Given the description of an element on the screen output the (x, y) to click on. 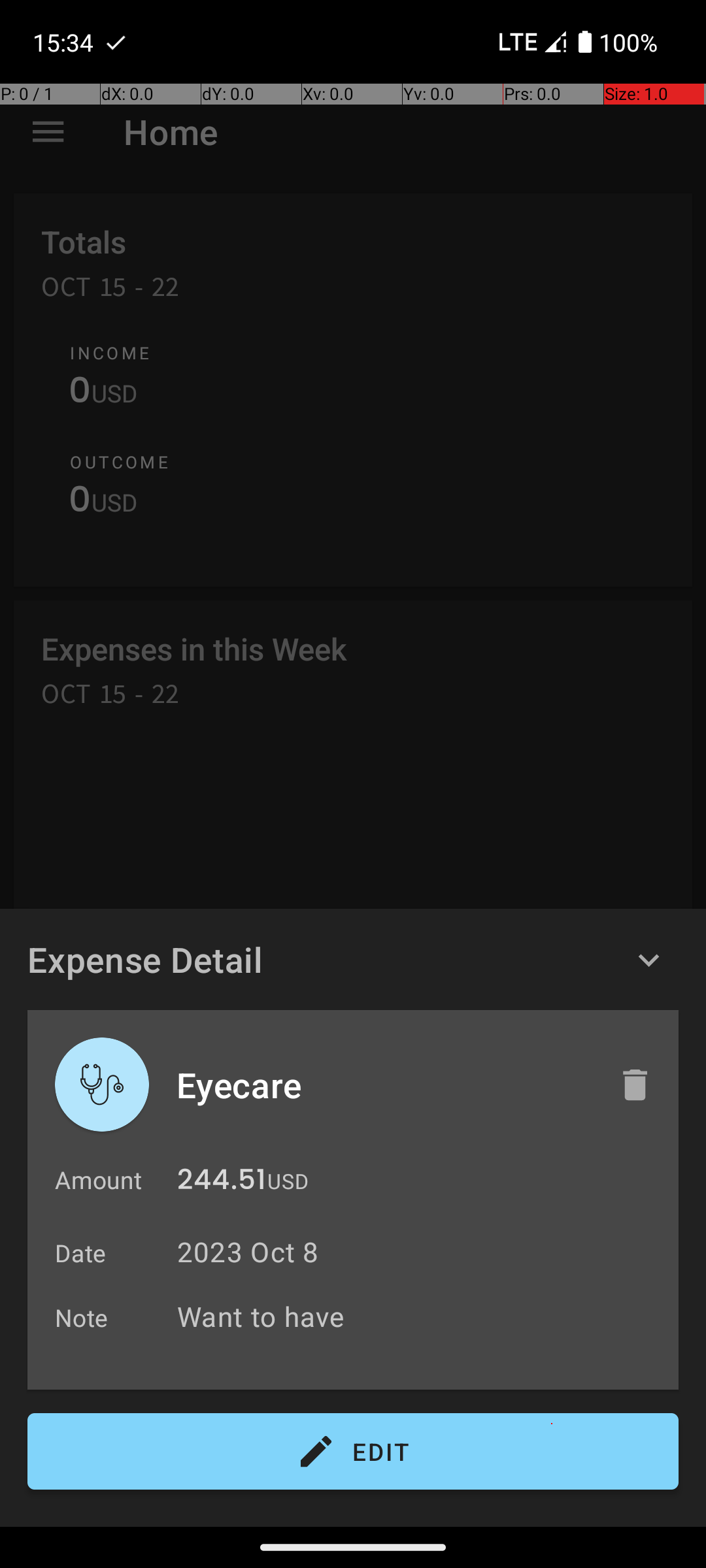
Eyecare Element type: android.widget.TextView (383, 1084)
244.51 Element type: android.widget.TextView (221, 1182)
Want to have Element type: android.widget.TextView (420, 1315)
